Given the description of an element on the screen output the (x, y) to click on. 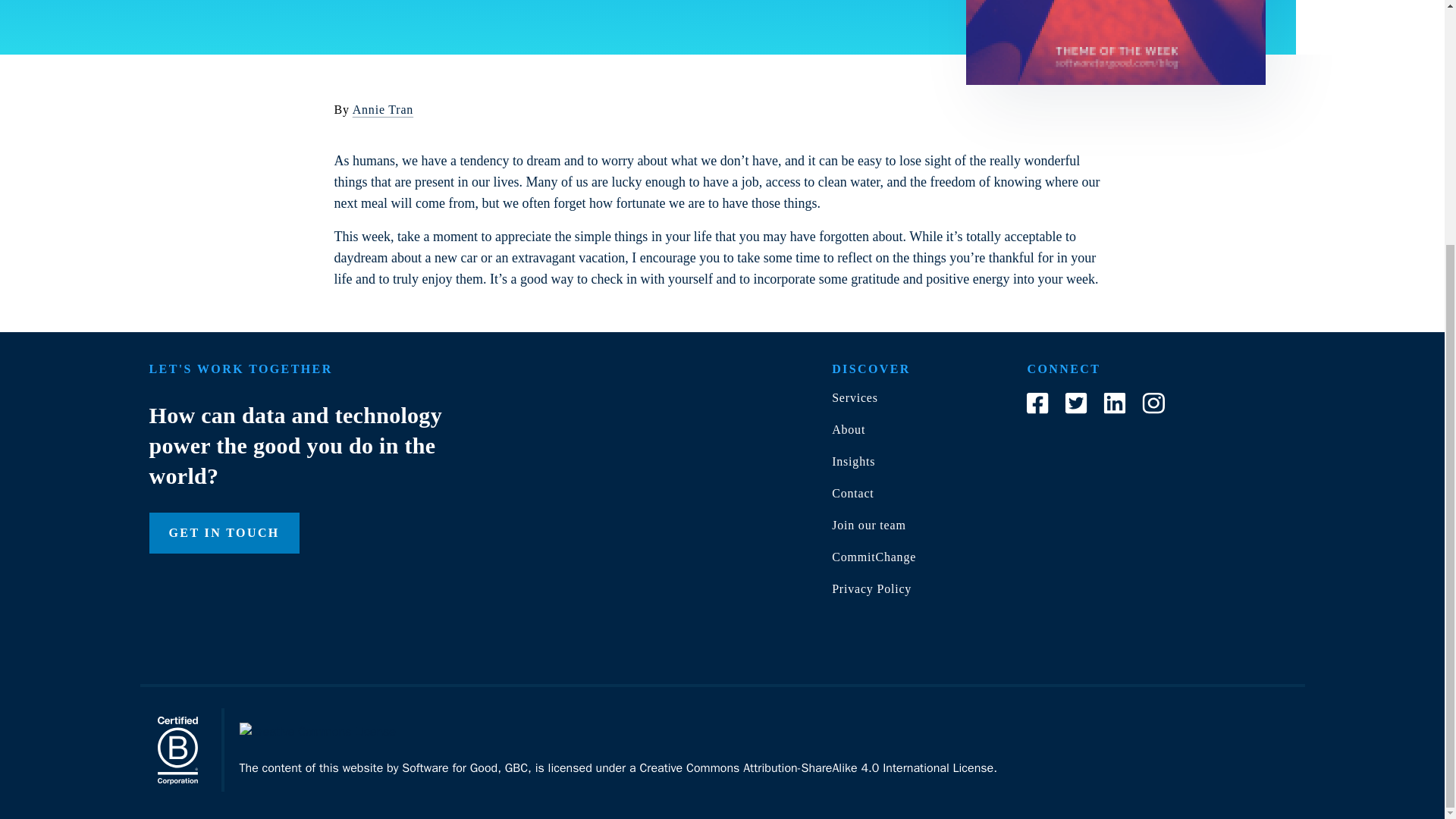
Insights (853, 461)
CommitChange (873, 556)
Privacy Policy (871, 588)
Join our team (868, 524)
Services (854, 397)
Software for Good, GBC, (466, 767)
Contact (852, 492)
GET IN TOUCH (223, 532)
Annie Tran (382, 109)
